Given the description of an element on the screen output the (x, y) to click on. 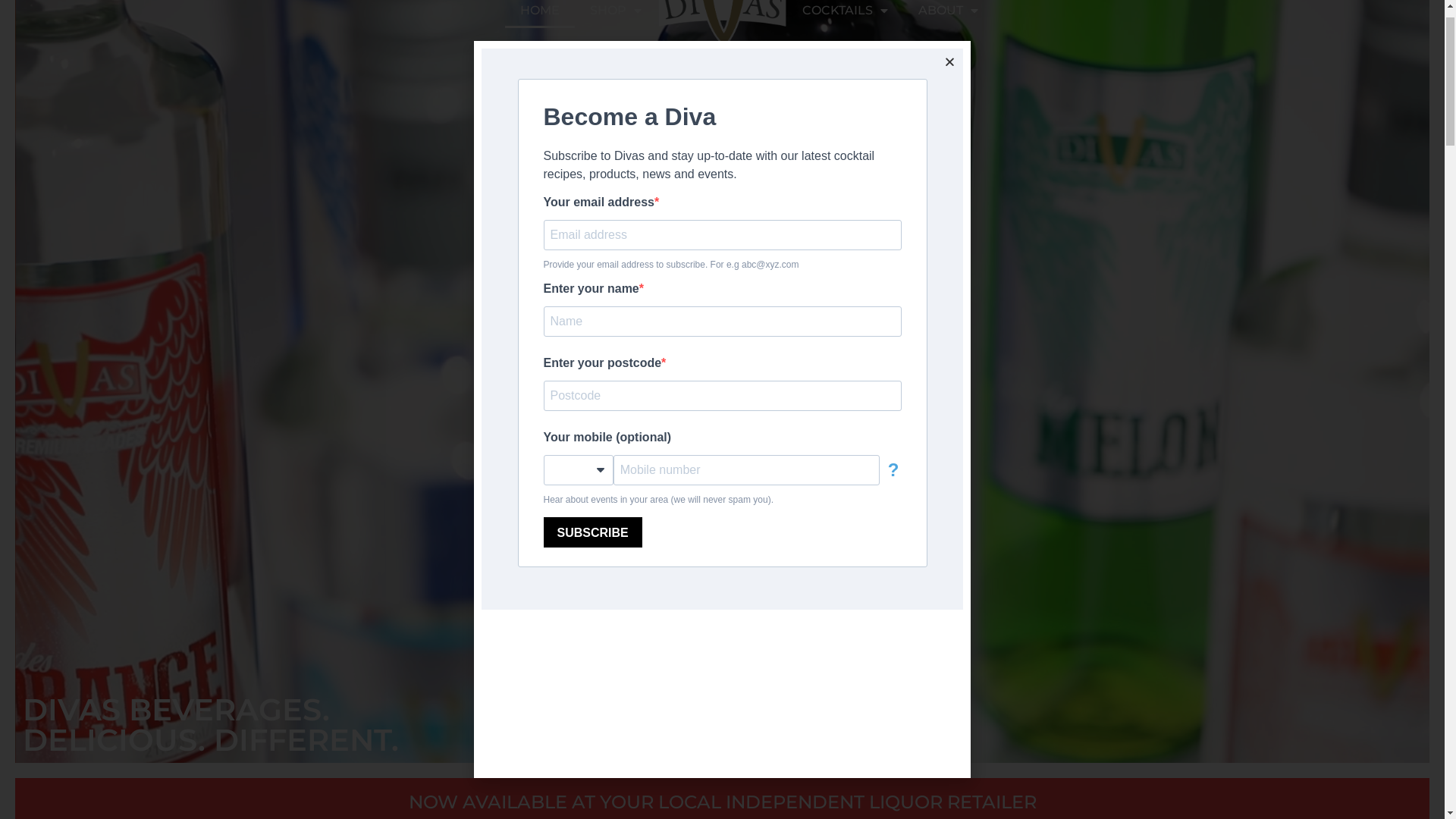
COCKTAILS Element type: text (845, 51)
SHOP Element type: text (615, 51)
HOME Element type: text (539, 51)
ABOUT Element type: text (948, 51)
